Given the description of an element on the screen output the (x, y) to click on. 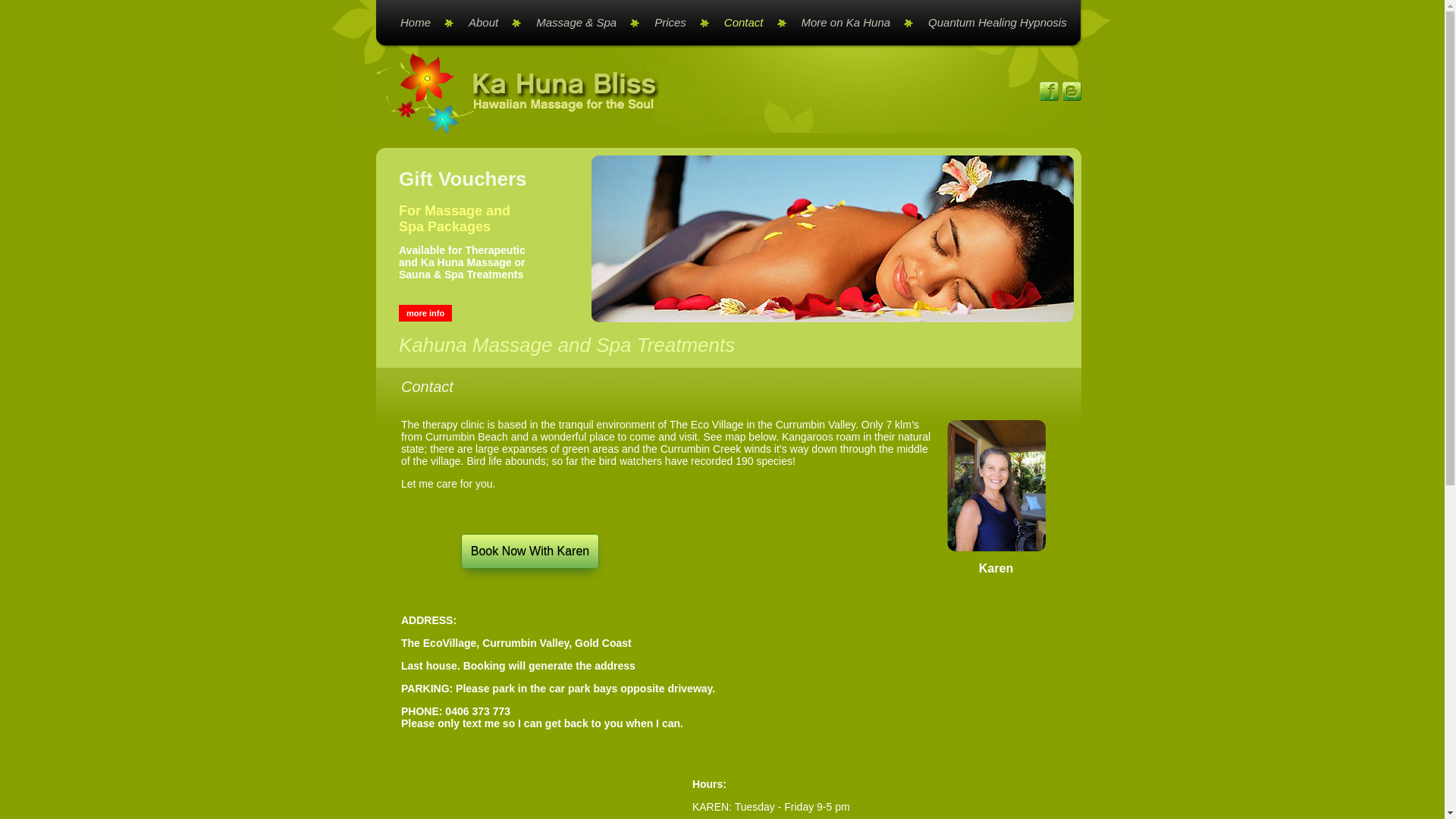
Quantum Healing Hypnosis Element type: text (989, 22)
more info Element type: text (424, 312)
Massage & Spa Element type: text (579, 22)
About Element type: text (486, 22)
More on Ka Huna Element type: text (849, 22)
Contact Element type: text (747, 22)
Home Element type: text (419, 22)
Book Now With Karen Element type: text (530, 550)
Prices Element type: text (674, 22)
